Given the description of an element on the screen output the (x, y) to click on. 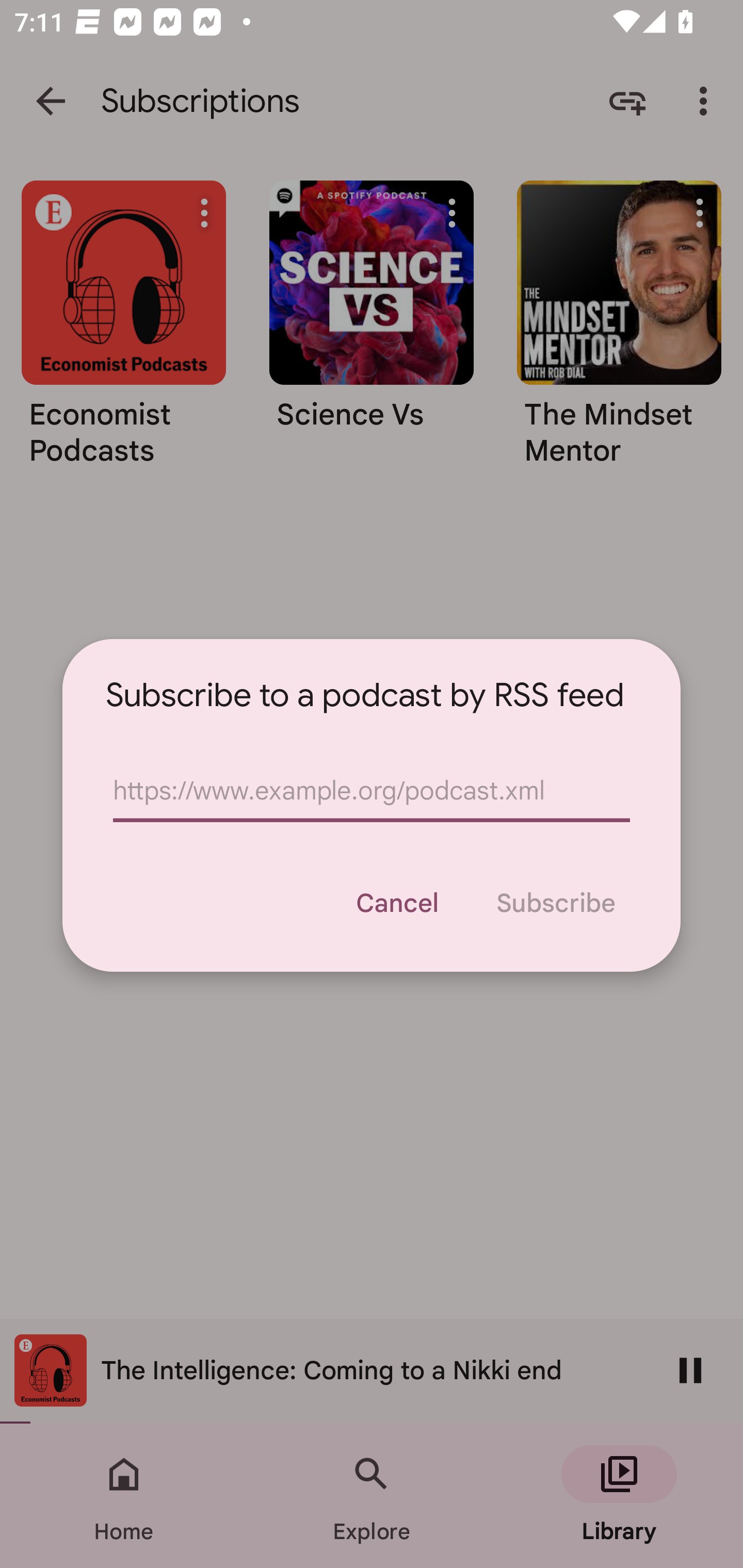
https://www.example.org/podcast.xml (371, 790)
Cancel (396, 903)
Subscribe (555, 903)
